Given the description of an element on the screen output the (x, y) to click on. 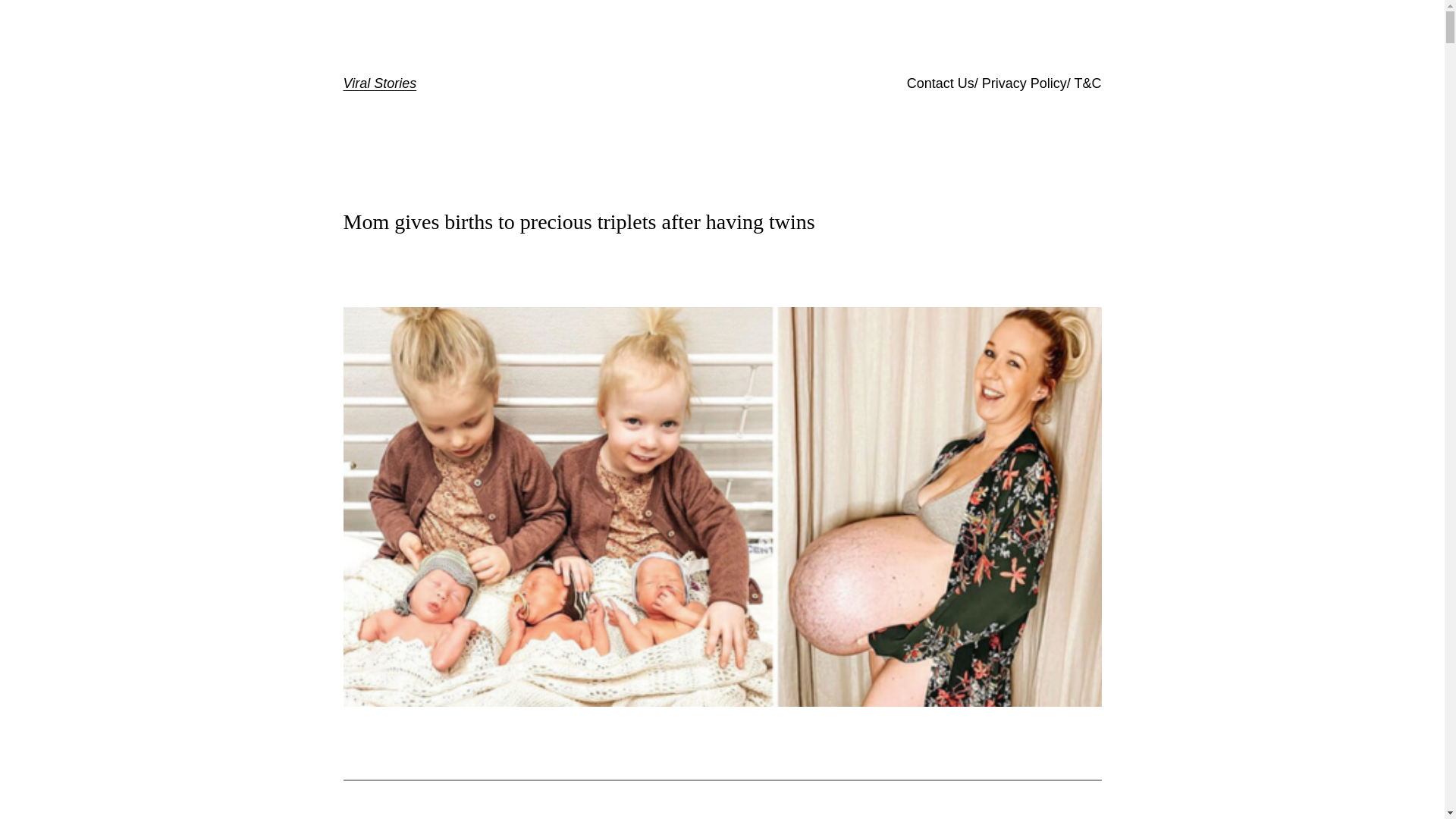
Viral Stories (379, 83)
